Given the description of an element on the screen output the (x, y) to click on. 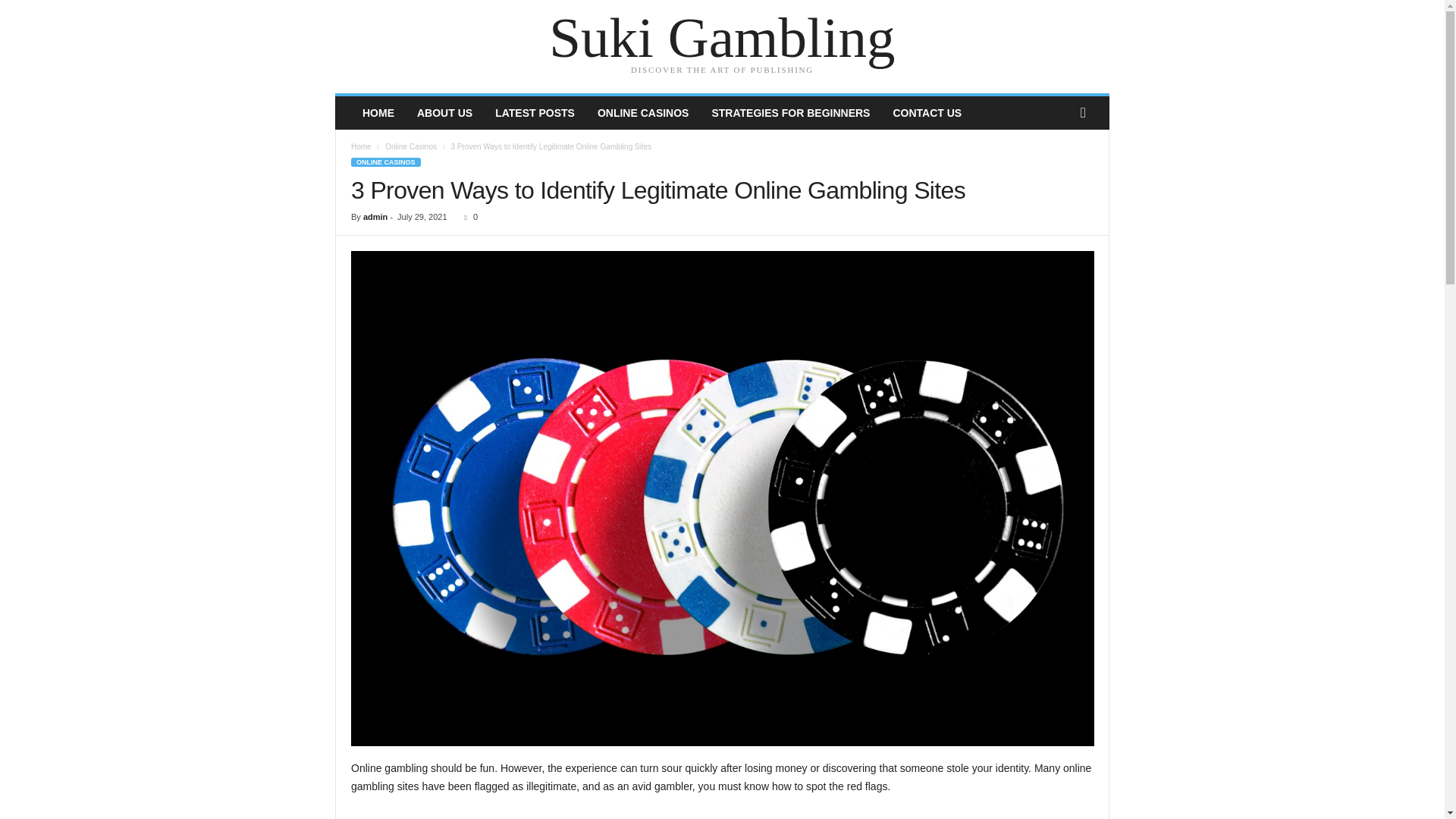
STRATEGIES FOR BEGINNERS (790, 112)
ONLINE CASINOS (643, 112)
Home (360, 146)
Suki Gambling (721, 38)
ONLINE CASINOS (385, 162)
0 (467, 216)
HOME (378, 112)
View all posts in Online Casinos (410, 146)
LATEST POSTS (534, 112)
admin (374, 216)
CONTACT US (926, 112)
ABOUT US (444, 112)
Online Casinos (410, 146)
